Given the description of an element on the screen output the (x, y) to click on. 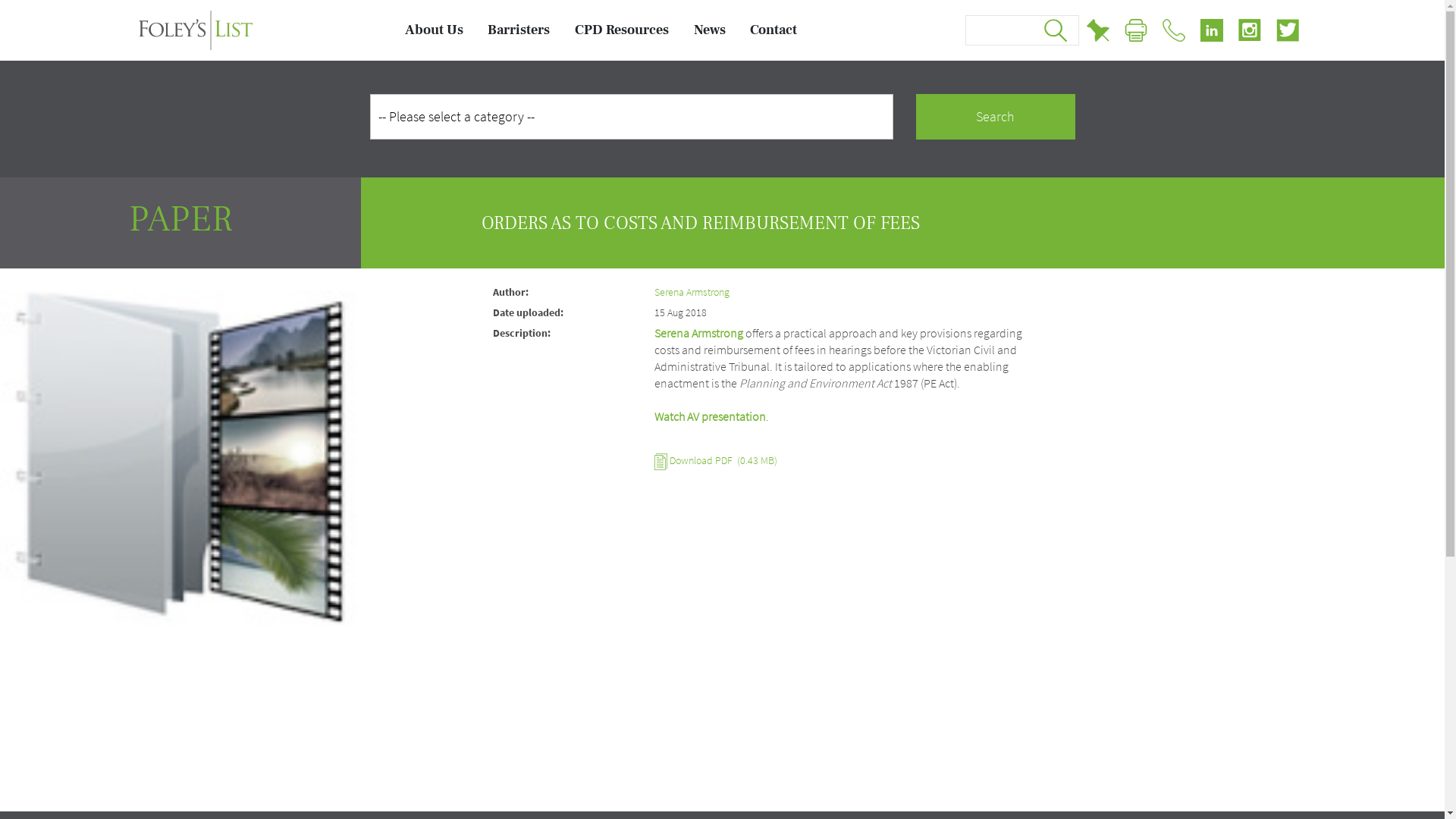
About Us Element type: text (433, 29)
Barristers Element type: text (518, 29)
Serena Armstrong Element type: text (691, 291)
Watch AV presentation Element type: text (709, 415)
Search Element type: text (995, 116)
Download PDF Element type: text (700, 460)
Submit Element type: hover (1054, 29)
Serena Armstrong Element type: text (698, 332)
Orders as to Costs and Reimbursement of Fees Element type: hover (180, 448)
